Given the description of an element on the screen output the (x, y) to click on. 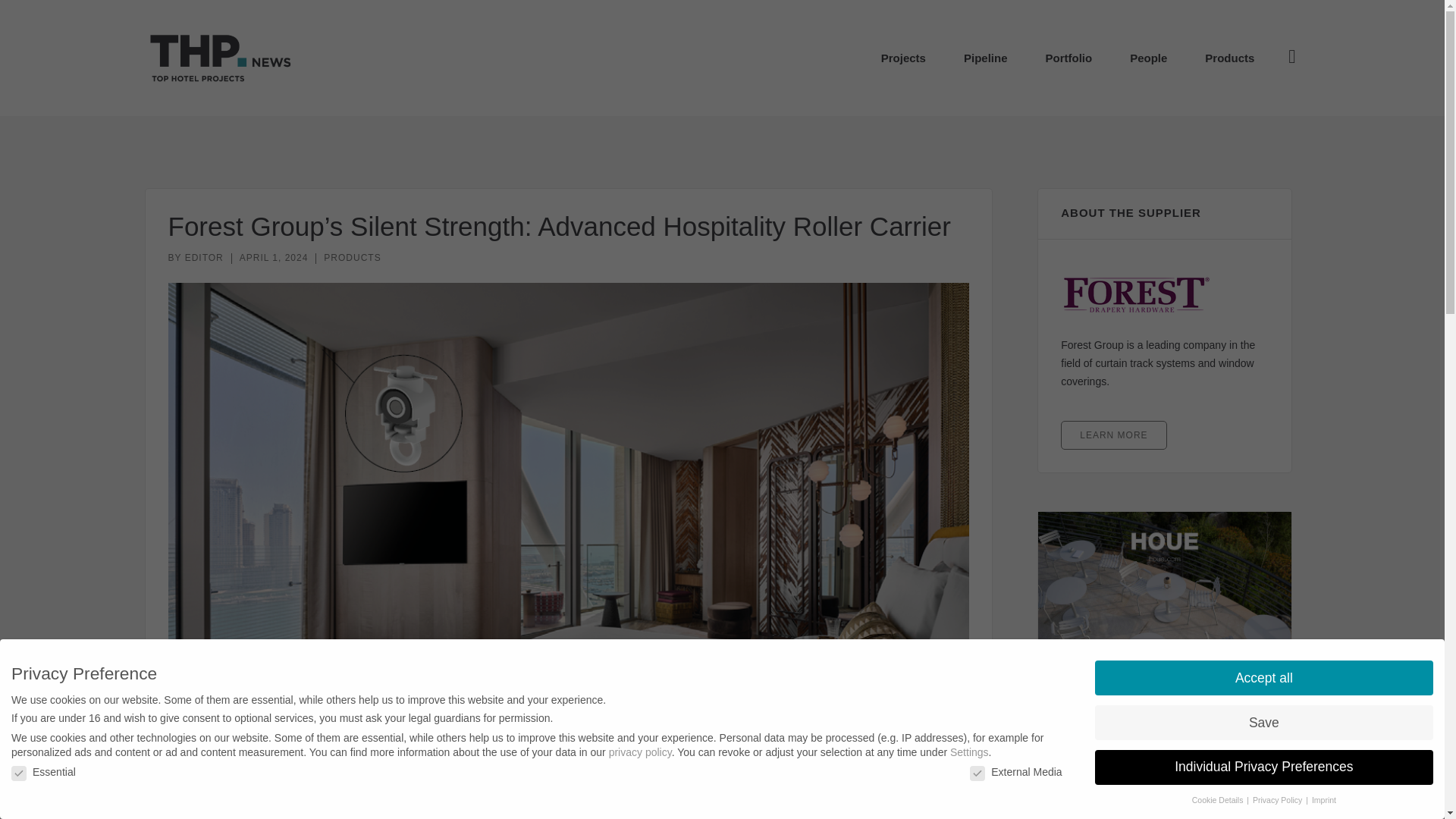
Pipeline (985, 58)
PRODUCTS (351, 257)
LEARN MORE (1113, 434)
Portfolio (1068, 58)
People (1148, 58)
Projects (902, 58)
Products (1229, 58)
